Given the description of an element on the screen output the (x, y) to click on. 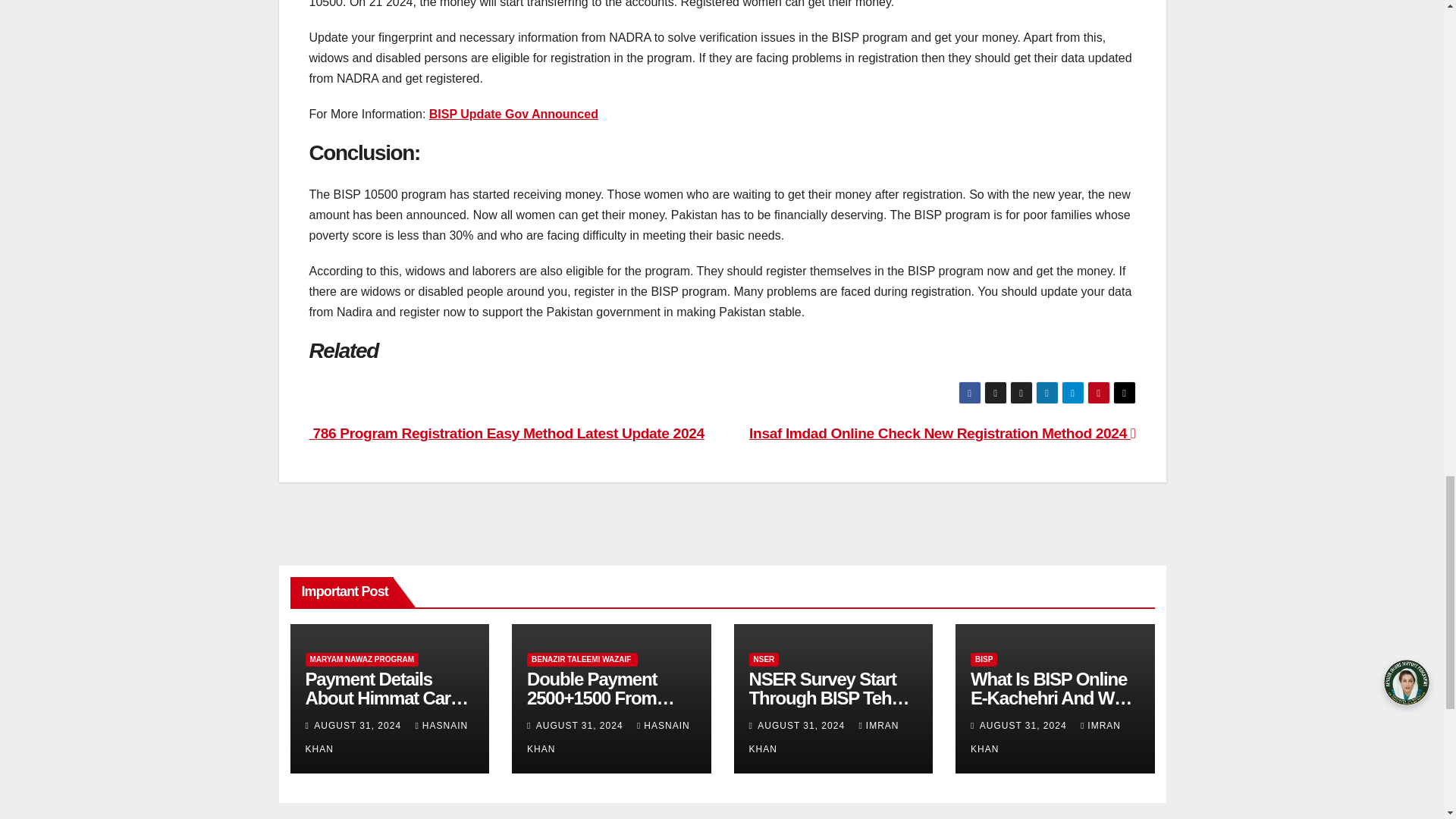
BISP Update Gov Announced (513, 113)
HASNAIN KHAN (608, 737)
BENAZIR TALEEMI WAZAIF  (582, 659)
AUGUST 31, 2024 (580, 725)
HASNAIN KHAN (385, 737)
Insaf Imdad Online Check New Registration Method 2024 (942, 433)
MARYAM NAWAZ PROGRAM (361, 659)
AUGUST 31, 2024 (359, 725)
